Given the description of an element on the screen output the (x, y) to click on. 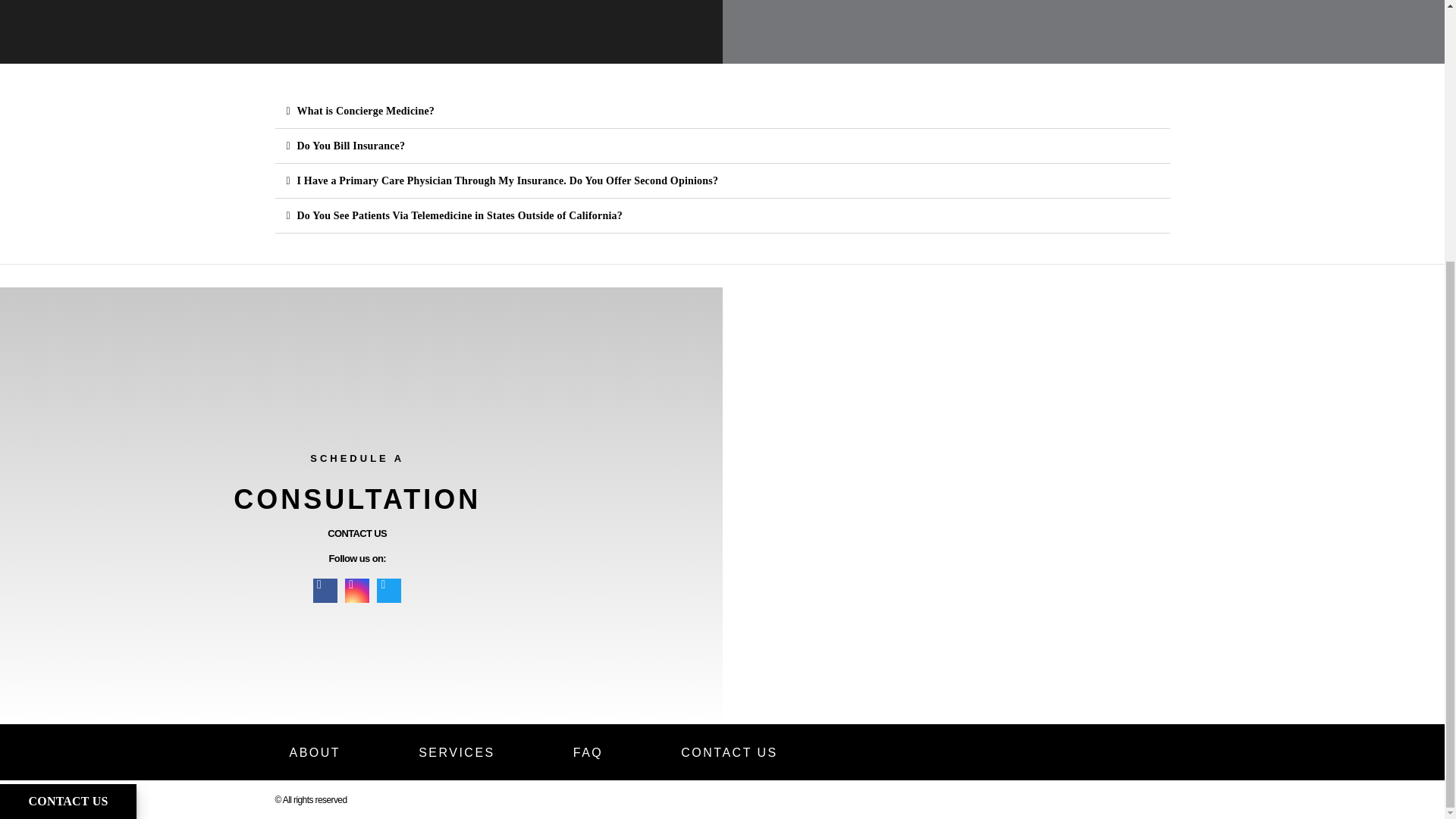
Do You Bill Insurance? (351, 145)
What is Concierge Medicine? (366, 111)
CONTACT US (729, 752)
CONSULTATION (356, 499)
CONTACT US (357, 532)
ABOUT (315, 752)
FAQ (588, 752)
SCHEDULE A (357, 458)
SERVICES (456, 752)
